Given the description of an element on the screen output the (x, y) to click on. 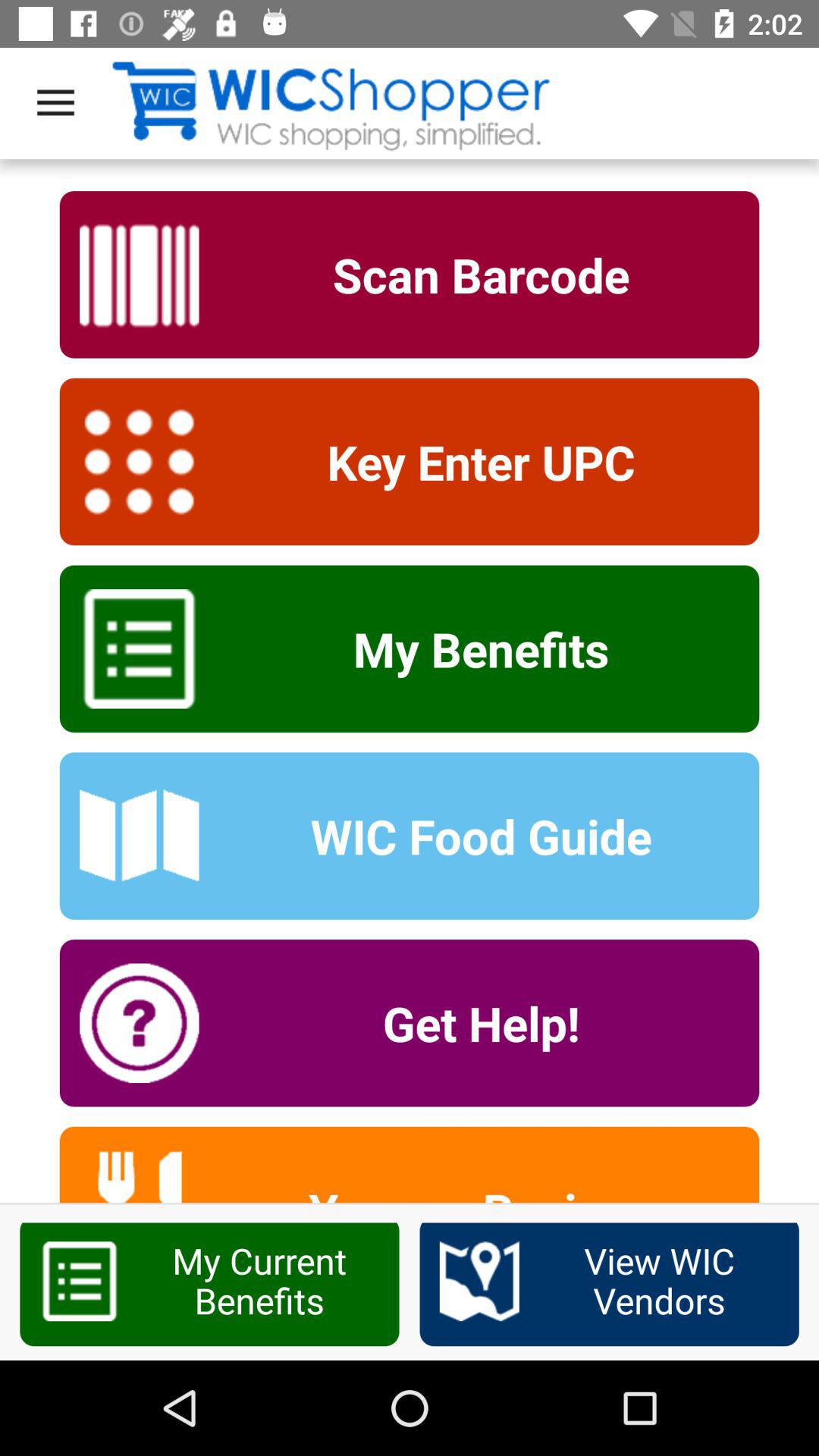
turn on the item above the my current benefits icon (471, 1190)
